Given the description of an element on the screen output the (x, y) to click on. 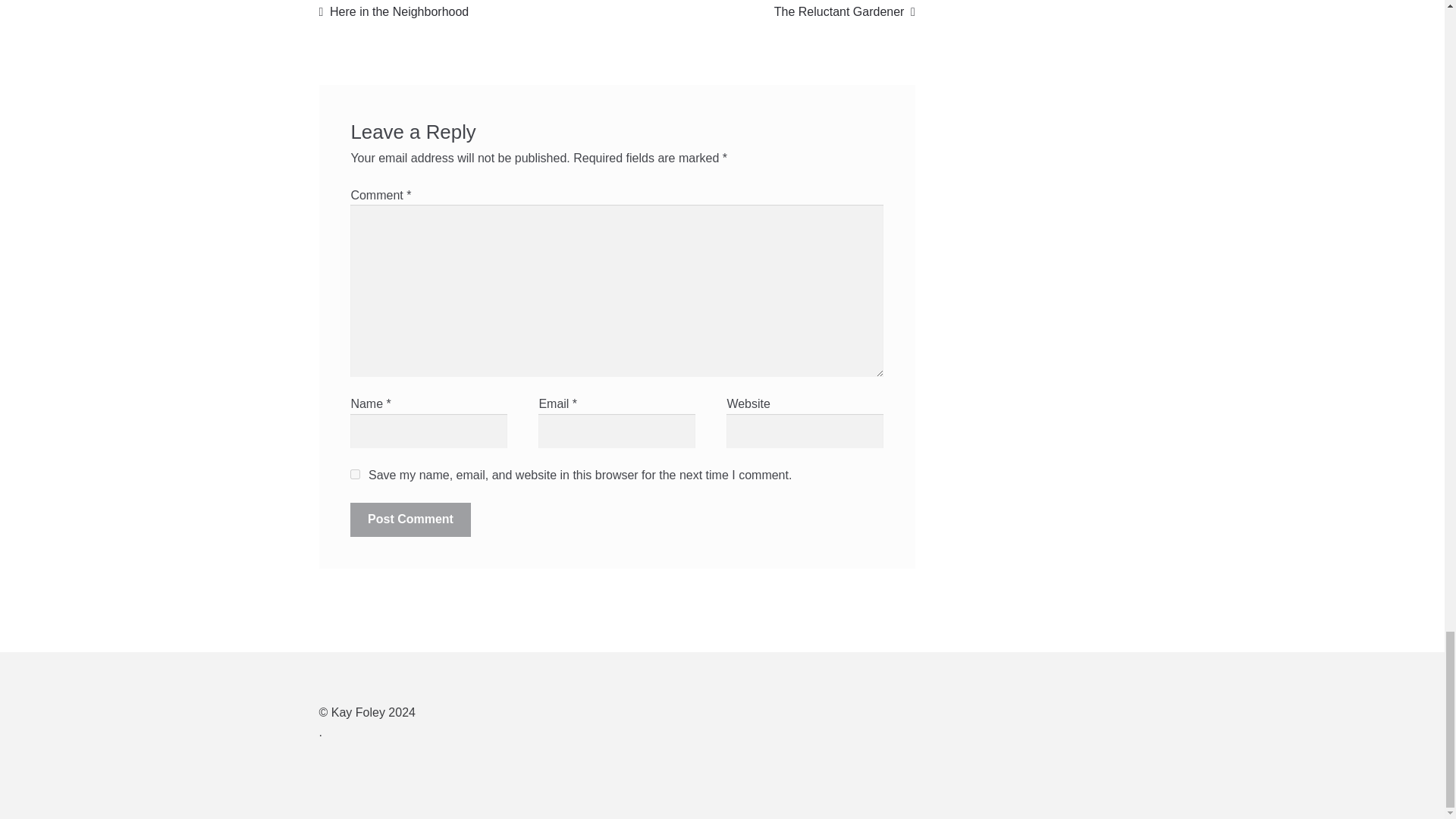
Post Comment (844, 12)
Post Comment (410, 519)
yes (410, 519)
